Given the description of an element on the screen output the (x, y) to click on. 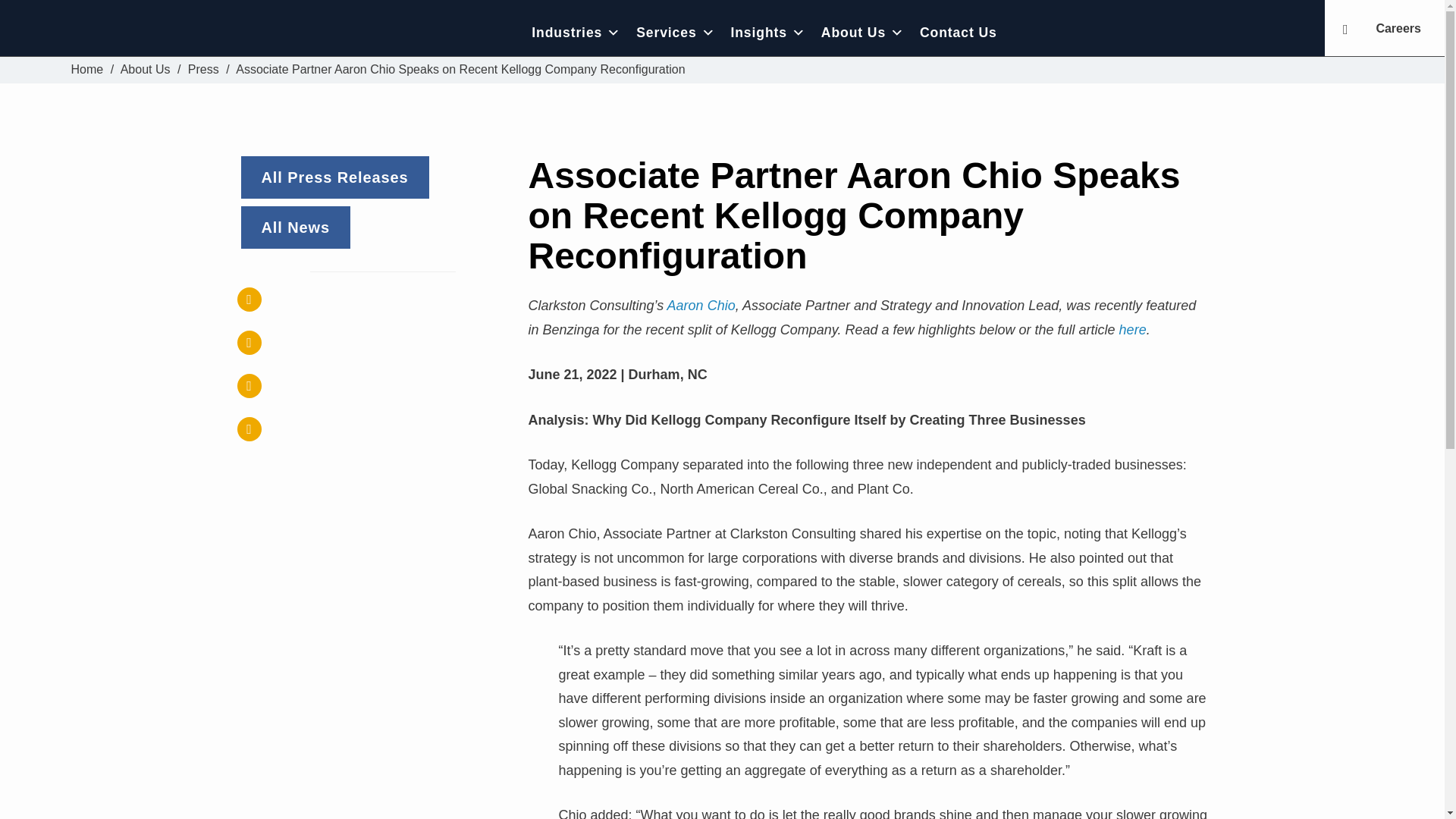
About Us (145, 69)
Services (675, 32)
Clarkston Consulting (87, 69)
Press (203, 69)
Industries (576, 32)
Clarkston Consulting (176, 31)
